Given the description of an element on the screen output the (x, y) to click on. 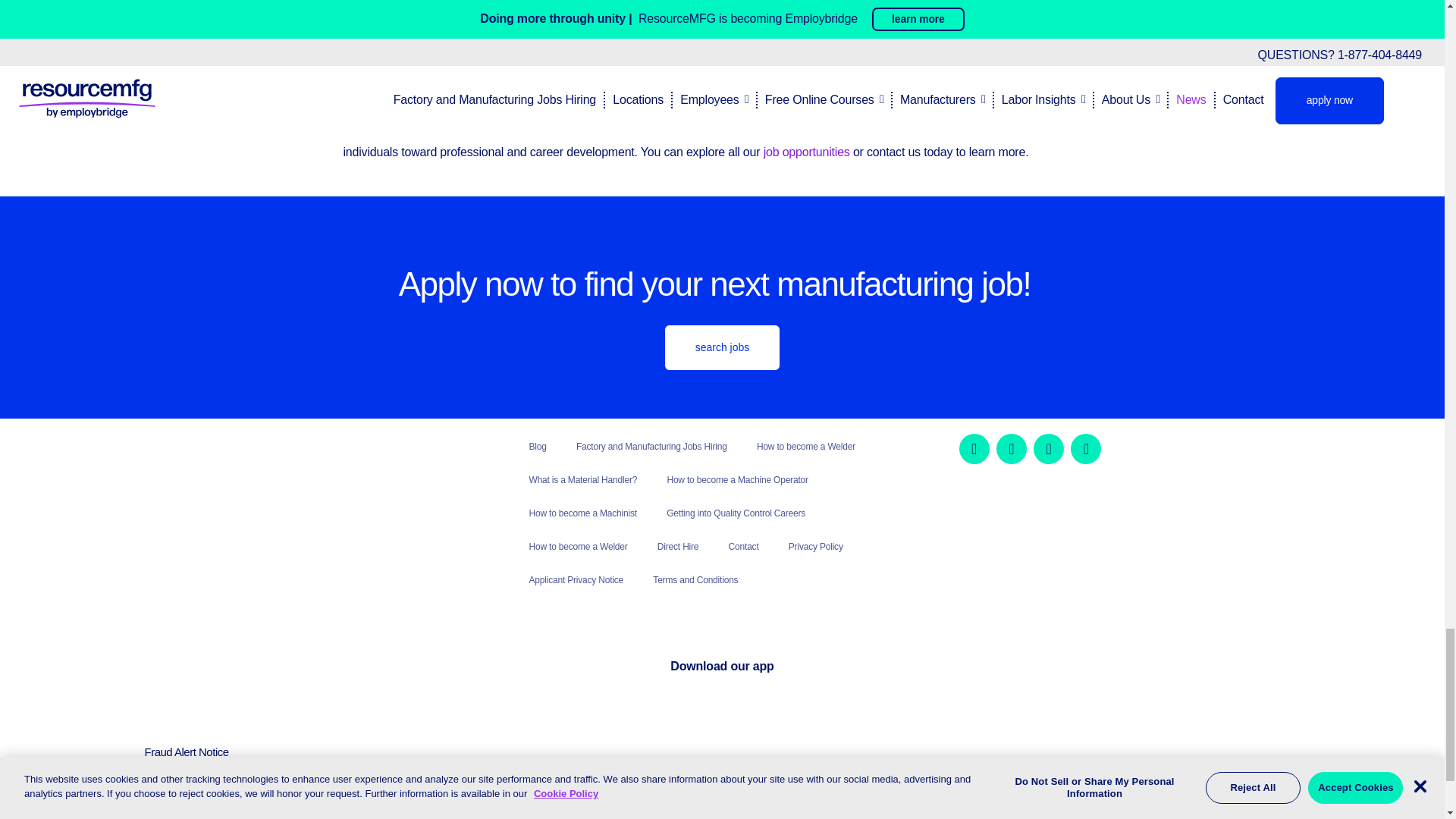
Blog (538, 446)
becoming a machinist (478, 66)
job opportunities (806, 151)
search jobs (721, 347)
